Given the description of an element on the screen output the (x, y) to click on. 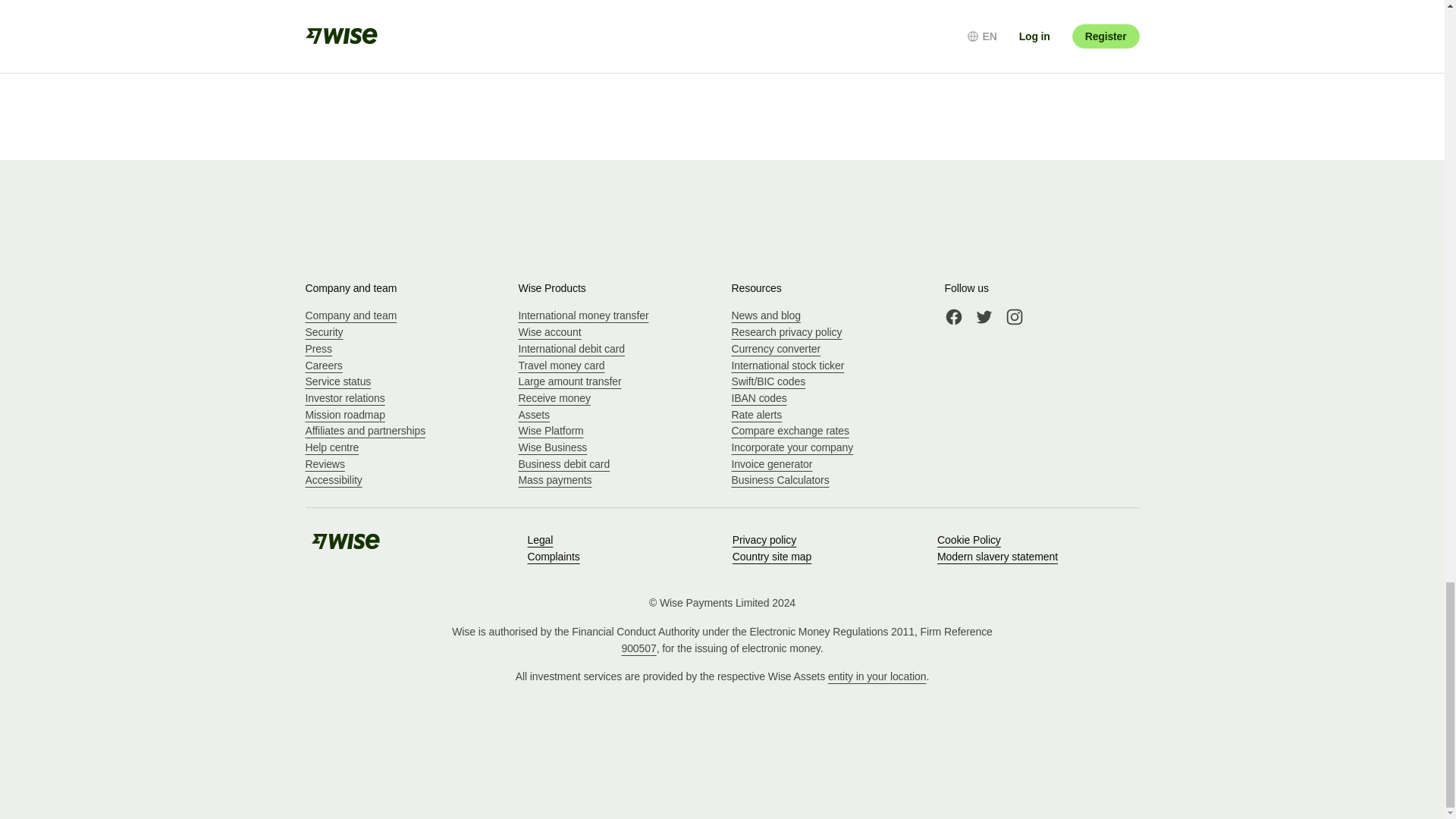
Security (323, 331)
Reviews (323, 463)
Large amount transfer (569, 381)
Careers (323, 365)
Affiliates and partnerships (364, 430)
How do I use my Wise card with Samsung Pay? (726, 4)
Wise Platform (550, 430)
International debit card (571, 348)
Press (317, 348)
Receive money (554, 398)
Help centre (331, 447)
International money transfer (583, 315)
Wise account (549, 331)
Investor relations (344, 398)
Company and team (350, 315)
